Given the description of an element on the screen output the (x, y) to click on. 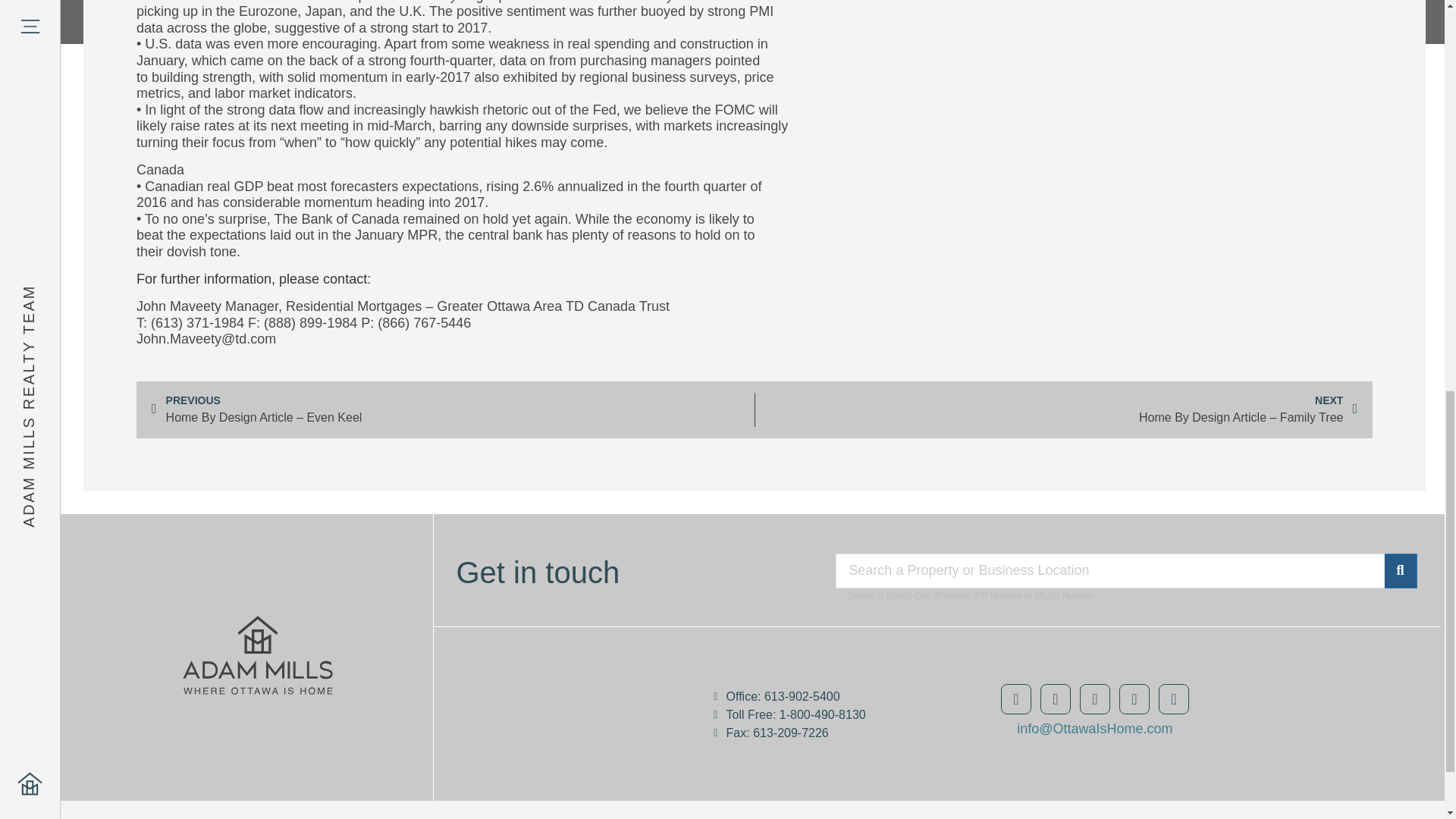
Toll Free: 1-800-490-8130 (822, 715)
Office: 613-902-5400 (822, 696)
Adam Mills Realty Team (586, 707)
Fax: 613-209-7226 (822, 733)
